Given the description of an element on the screen output the (x, y) to click on. 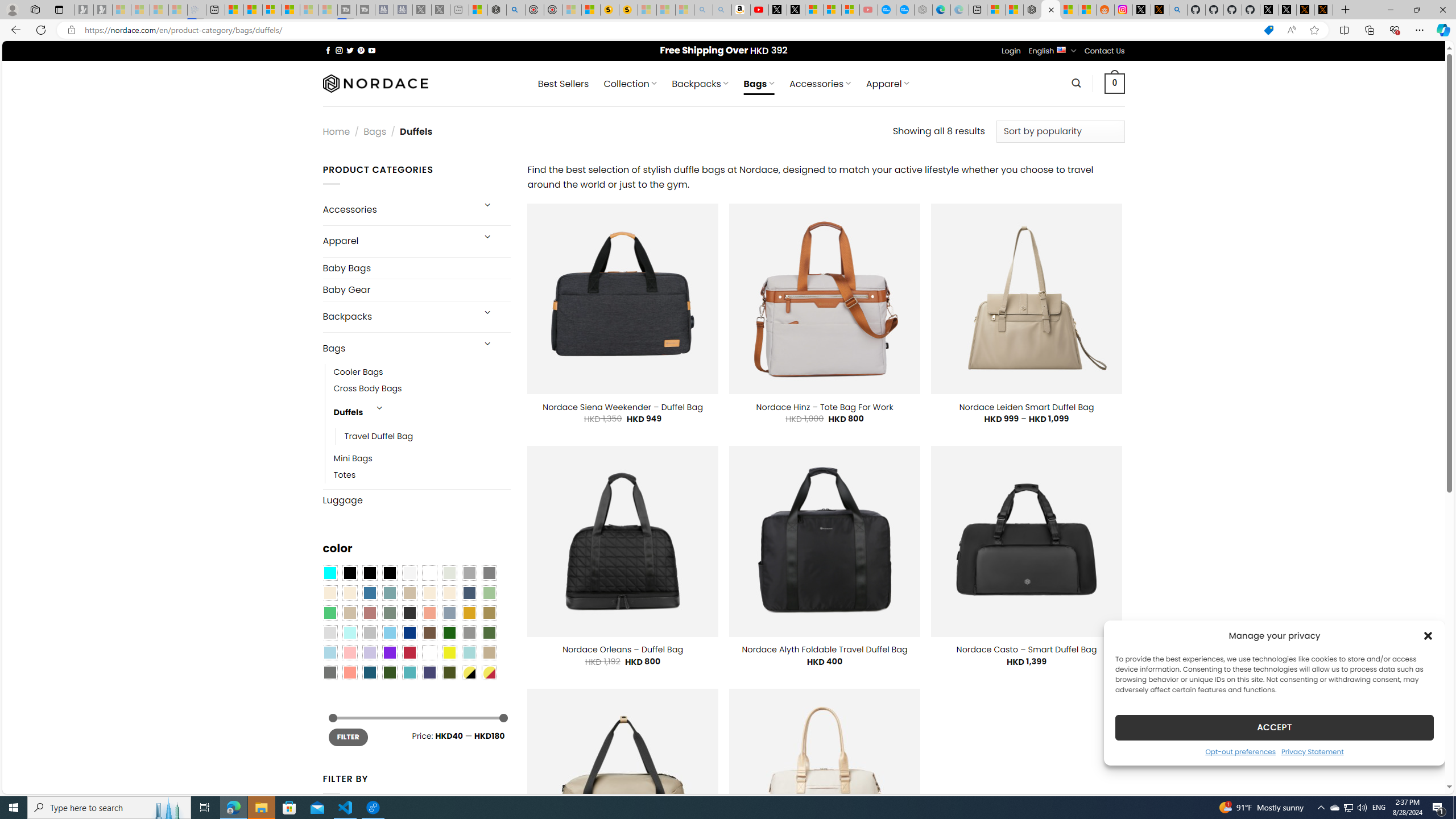
Ash Gray (449, 572)
Totes (422, 475)
Nordace Leiden Smart Duffel Bag (1026, 406)
Dusty Blue (449, 613)
Nordace - Nordace has arrived Hong Kong - Sleeping (923, 9)
Apparel (397, 241)
Amazon Echo Dot PNG - Search Images - Sleeping (721, 9)
Light Blue (329, 652)
Blue Sage (389, 592)
Baby Gear (416, 289)
Yellow (449, 652)
Baby Gear (416, 289)
